Given the description of an element on the screen output the (x, y) to click on. 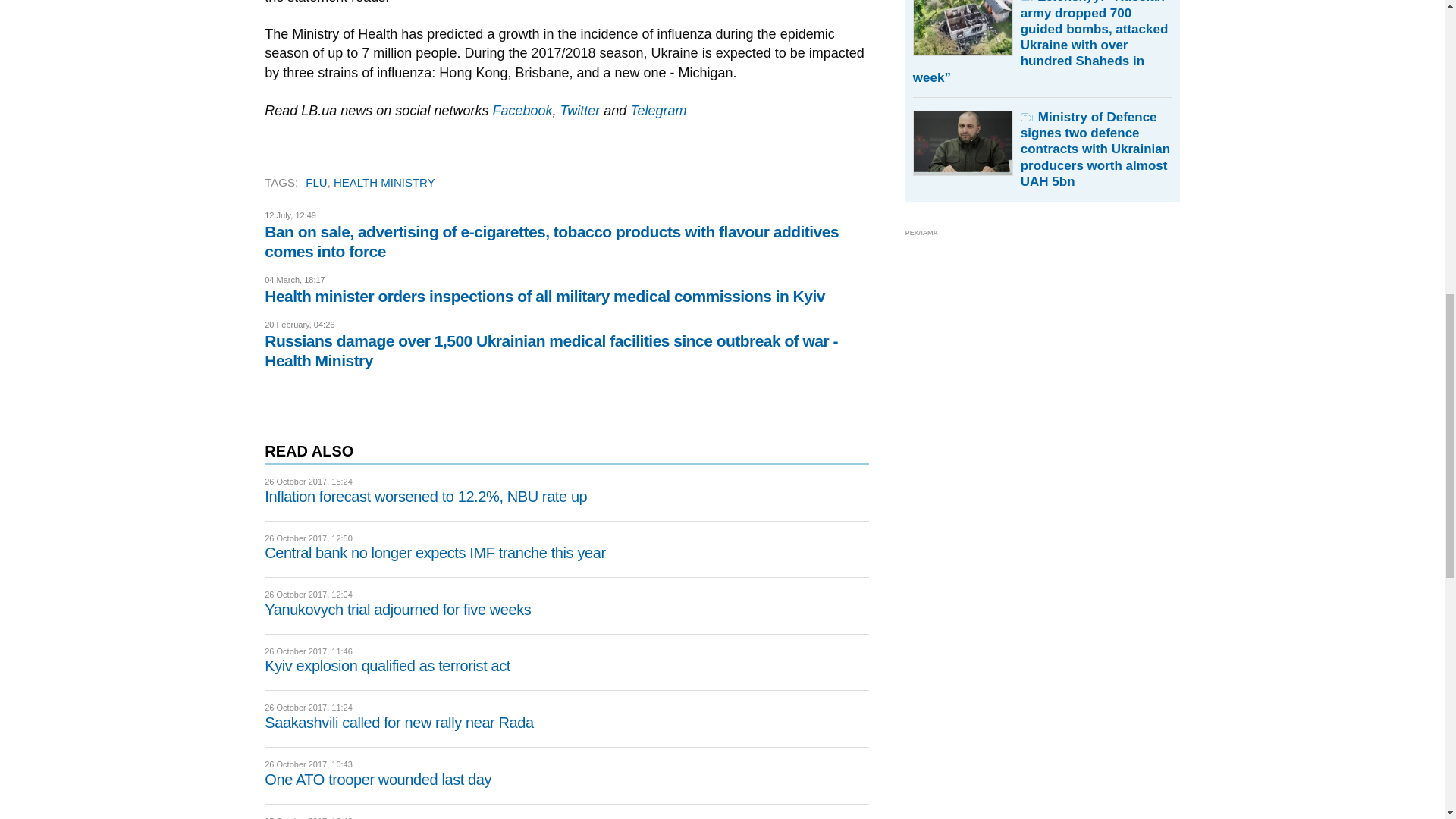
Twitter (579, 110)
HEALTH MINISTRY (384, 182)
One ATO trooper wounded last day (378, 779)
Saakashvili called for new rally near Rada (399, 722)
Facebook (521, 110)
Central bank no longer expects IMF tranche this year (434, 552)
Telegram (657, 110)
